Given the description of an element on the screen output the (x, y) to click on. 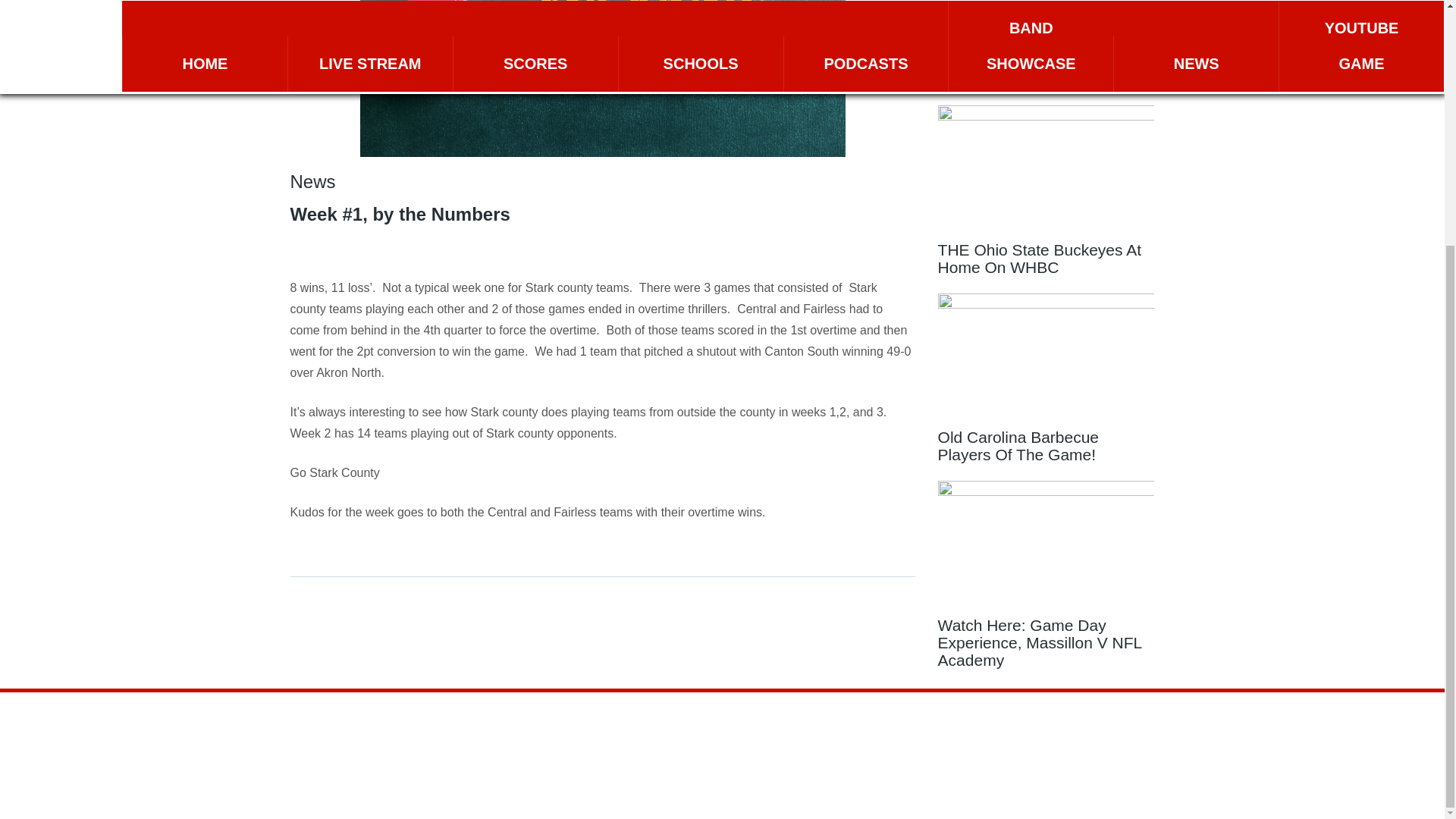
Old Carolina Barbecue Players Of The Game! (1045, 382)
News (311, 181)
THE Ohio State Buckeyes At Home On WHBC (1045, 194)
